Given the description of an element on the screen output the (x, y) to click on. 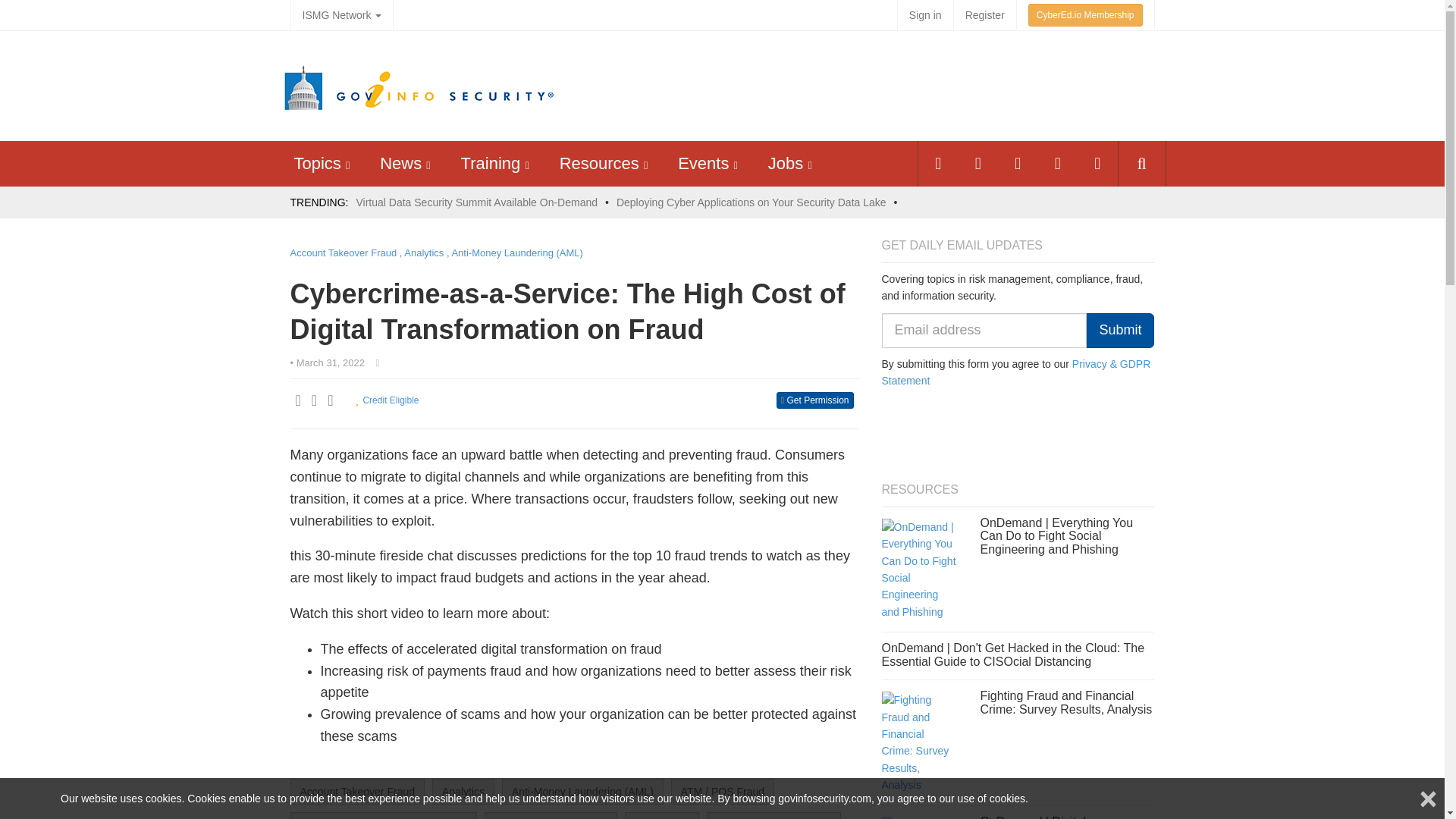
Sign in (925, 15)
CyberEd.io Membership (1084, 15)
Topics (317, 162)
ISMG Network (341, 15)
Register (984, 15)
